Given the description of an element on the screen output the (x, y) to click on. 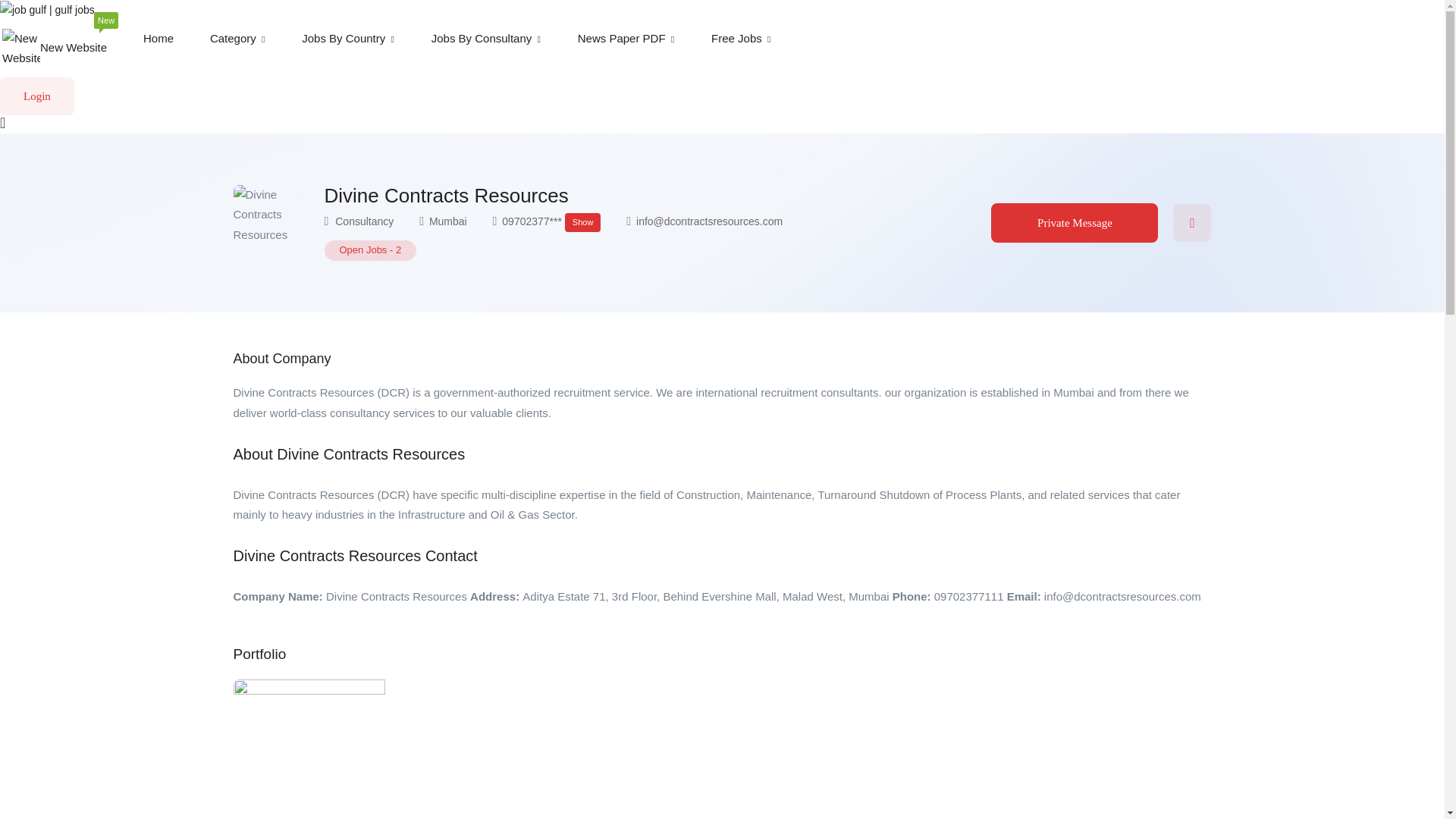
Divine Contracts Resources (53, 47)
Sign in (270, 223)
